Given the description of an element on the screen output the (x, y) to click on. 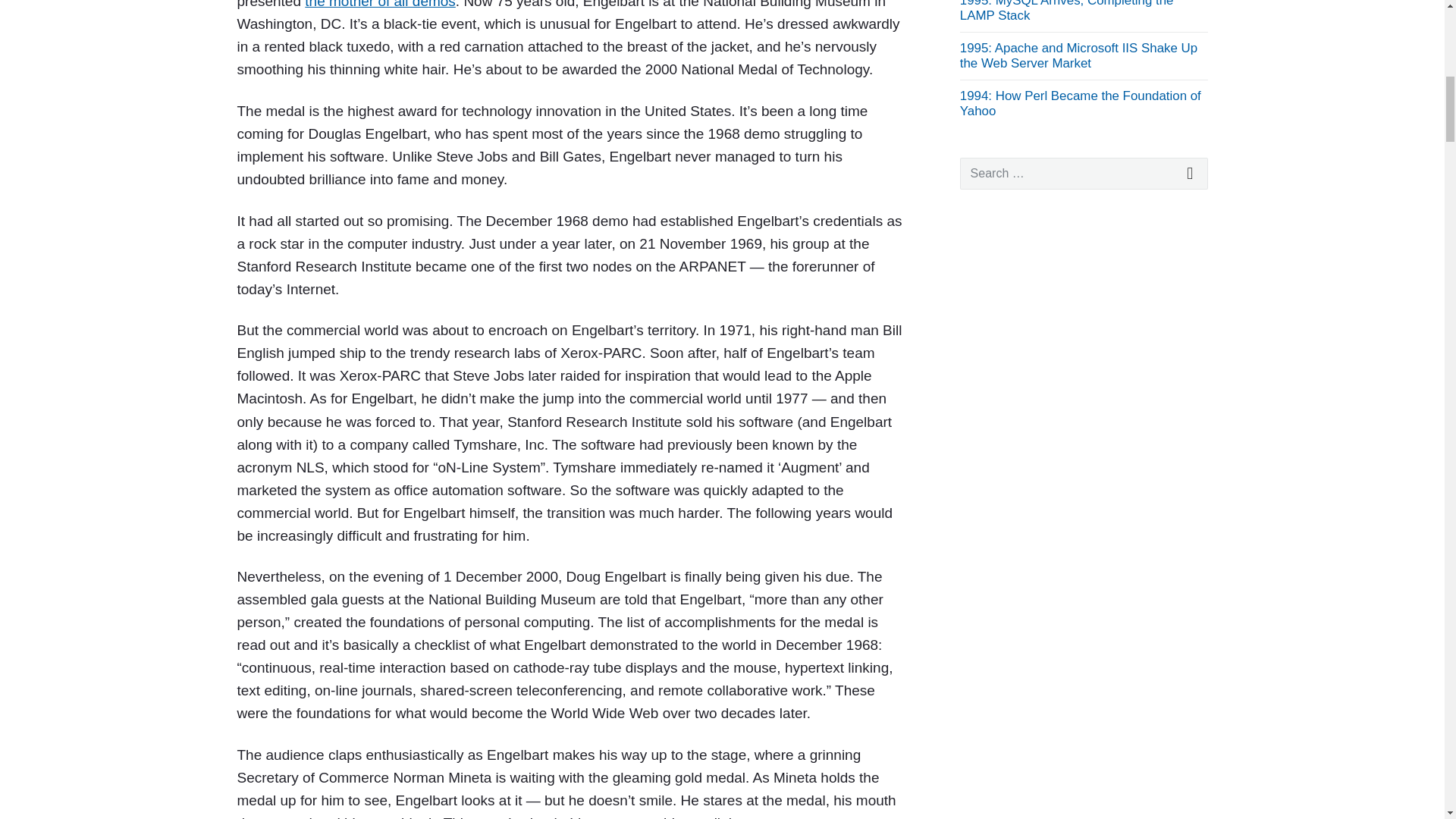
1995: MySQL Arrives, Completing the LAMP Stack (1066, 11)
the mother of all demos (379, 4)
Search for: (1083, 173)
